Given the description of an element on the screen output the (x, y) to click on. 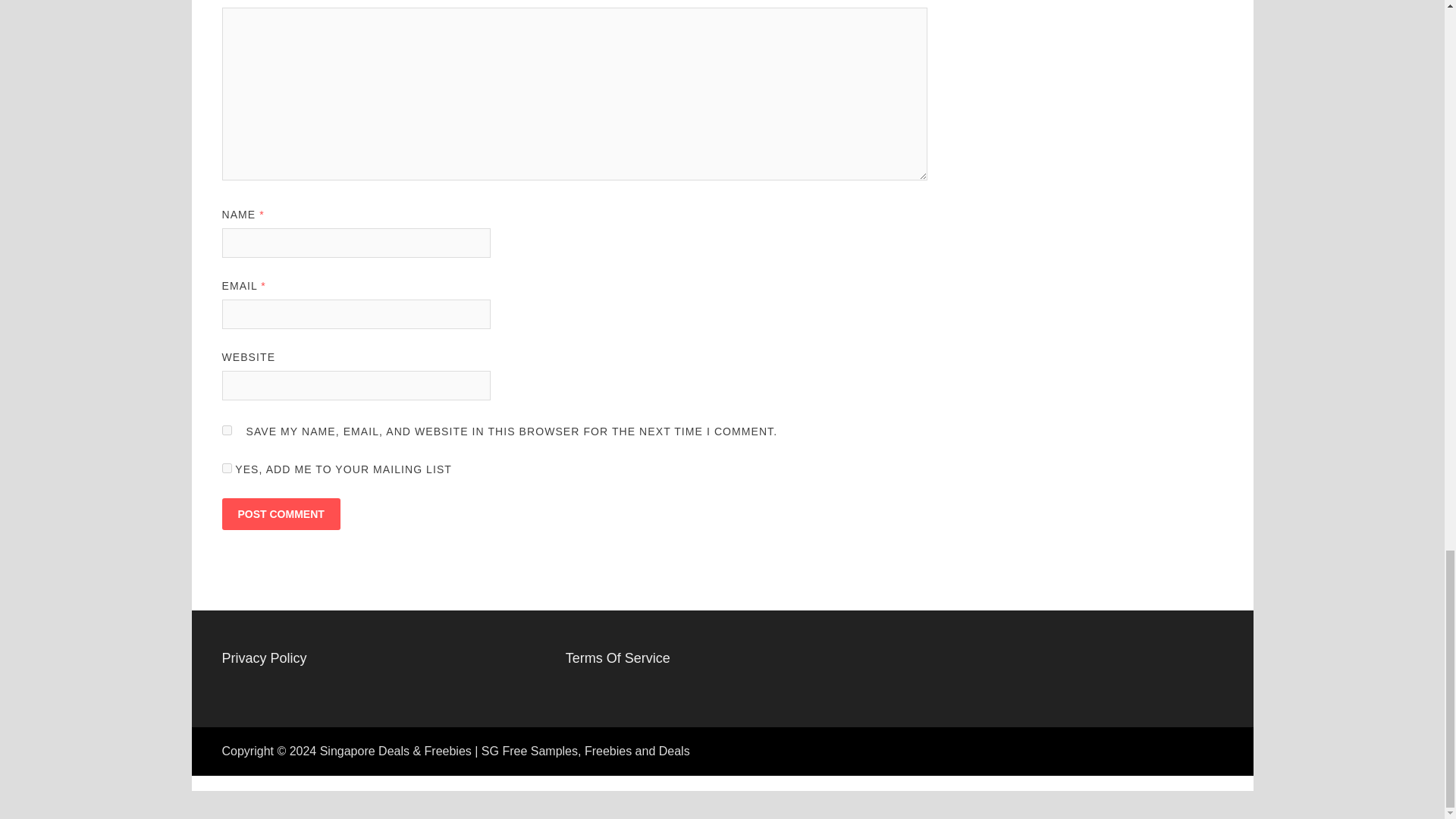
1 (226, 468)
Post Comment (280, 513)
yes (226, 429)
